Given the description of an element on the screen output the (x, y) to click on. 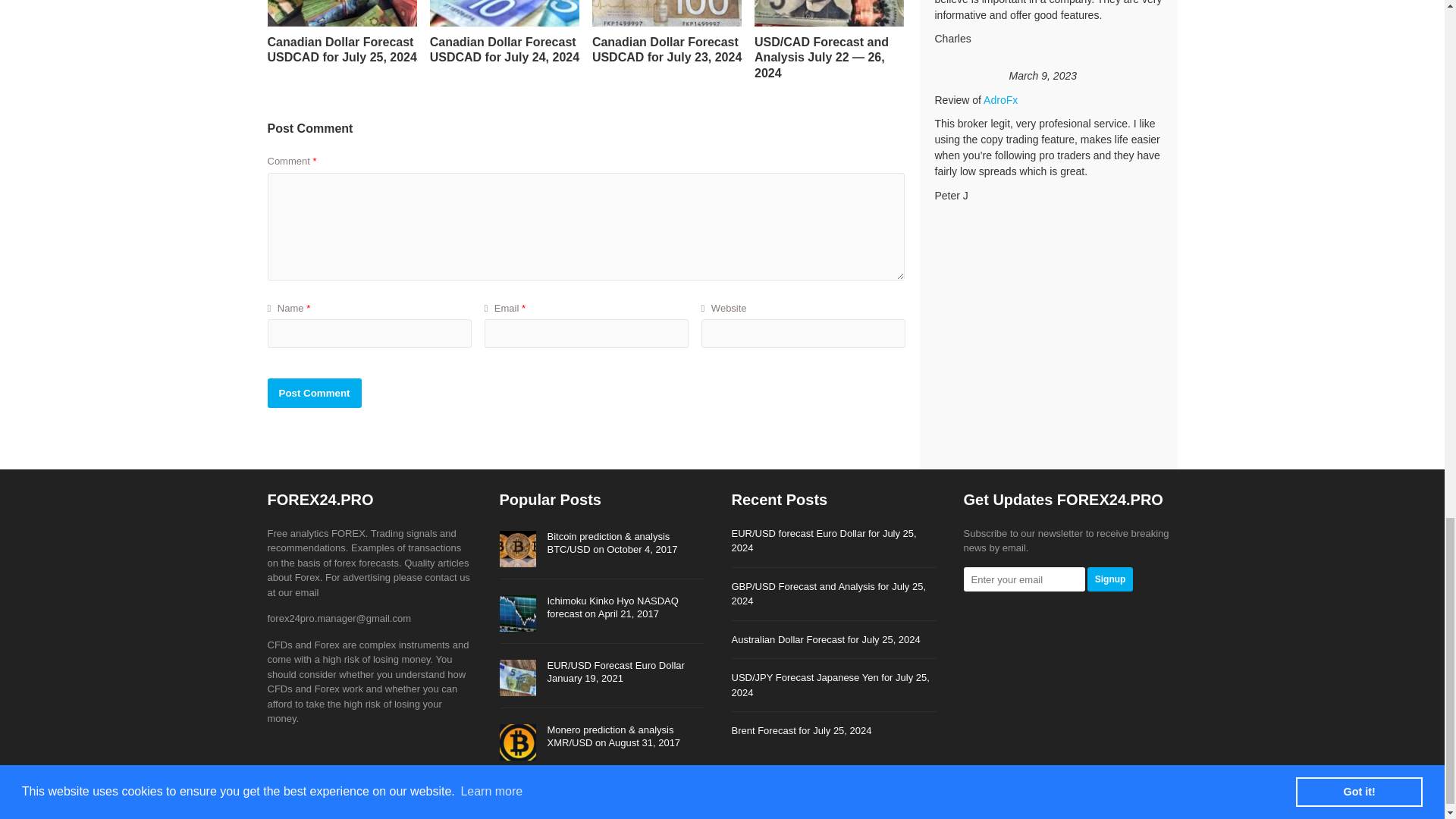
Post Comment (313, 392)
